Given the description of an element on the screen output the (x, y) to click on. 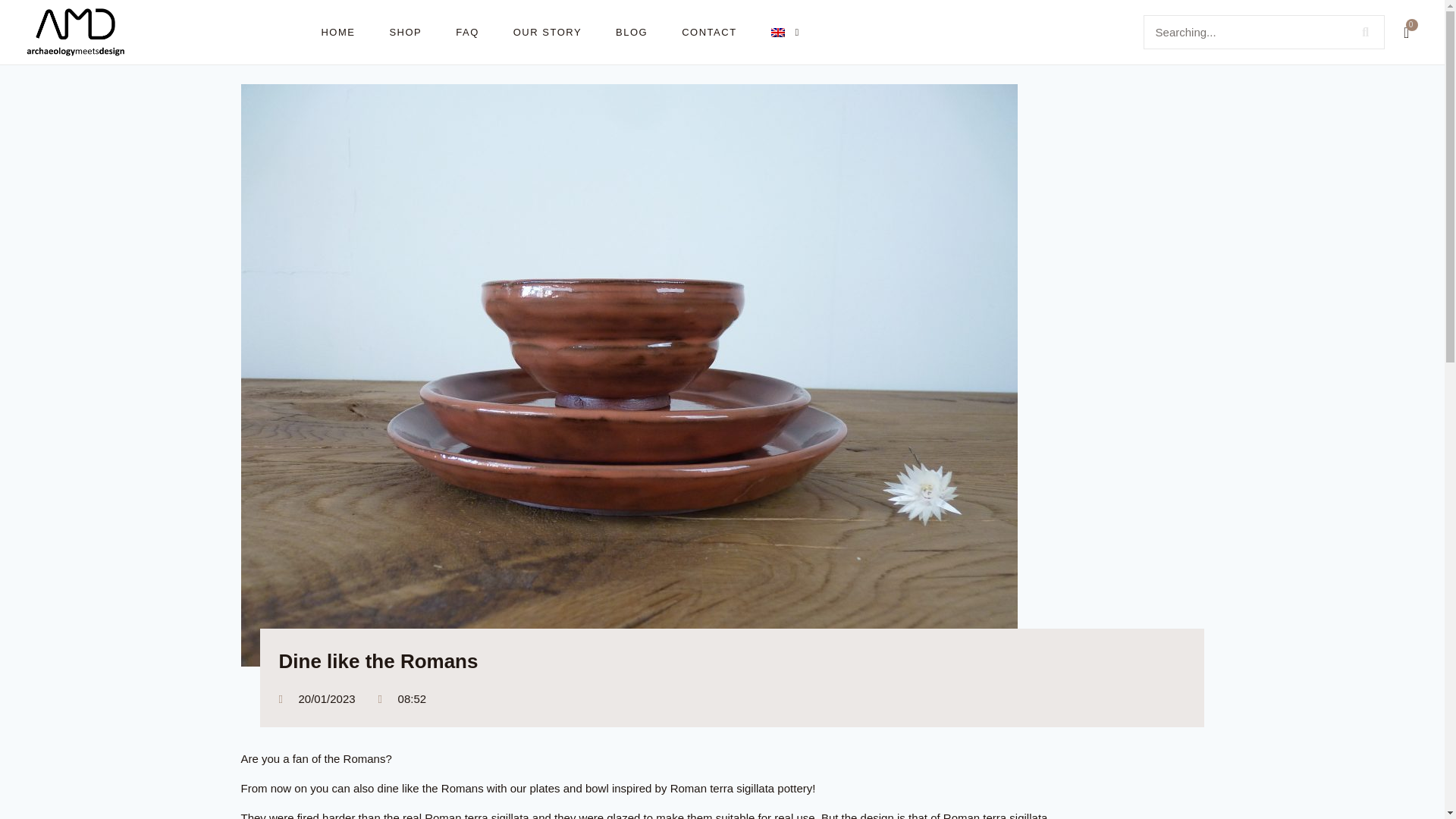
OUR STORY (546, 32)
0 (1402, 32)
